Given the description of an element on the screen output the (x, y) to click on. 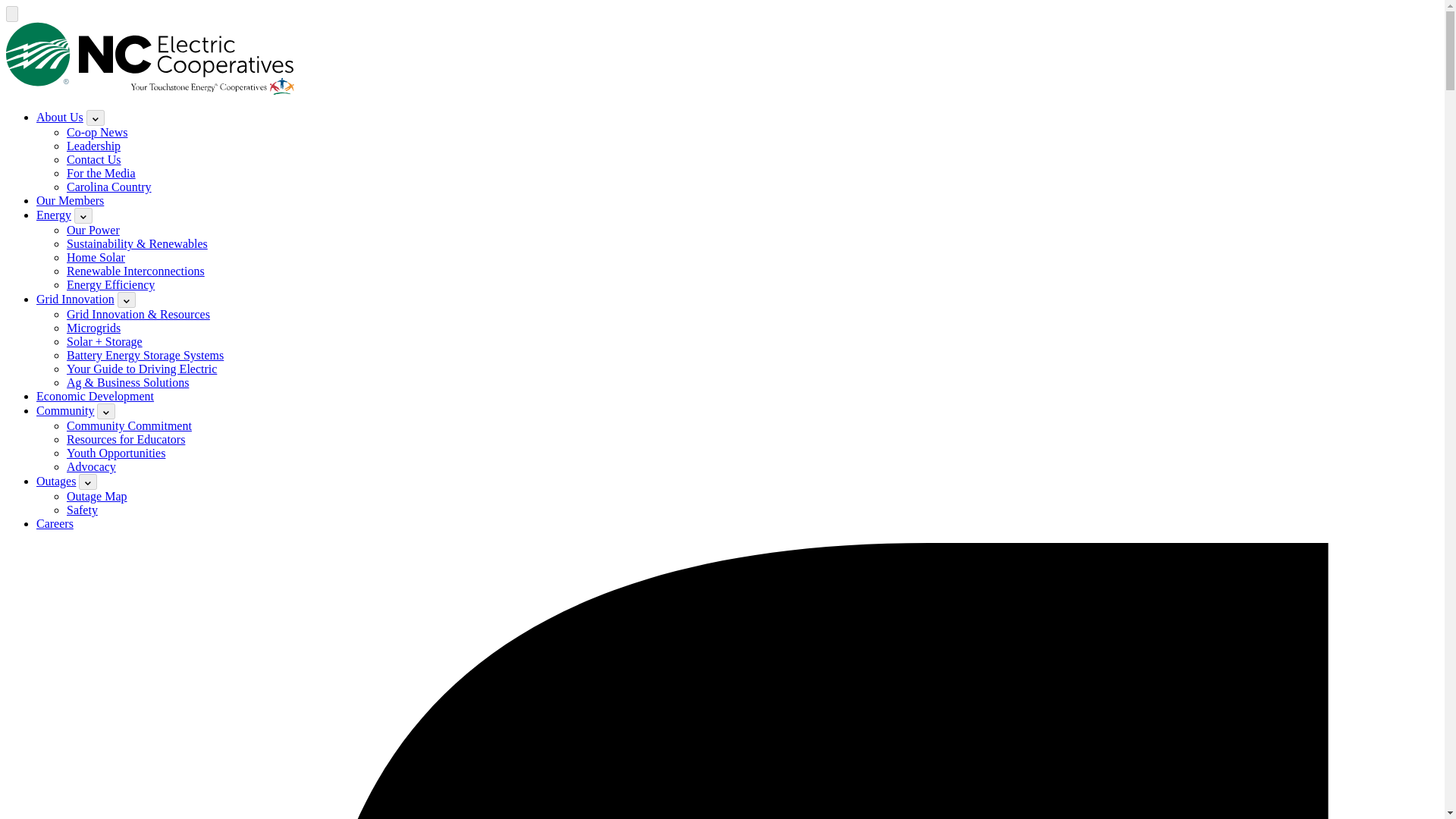
Battery Energy Storage Systems (145, 354)
Our Members (69, 200)
Youth Opportunities (115, 452)
Energy (53, 214)
Microgrids (93, 327)
Advocacy (91, 466)
Community Commitment (129, 425)
Resources for Educators (125, 439)
Careers (55, 522)
For the Media (100, 173)
Your Guide to Driving Electric (141, 368)
Community (65, 410)
Energy Efficiency (110, 284)
Contact Us (93, 159)
Safety (81, 509)
